Given the description of an element on the screen output the (x, y) to click on. 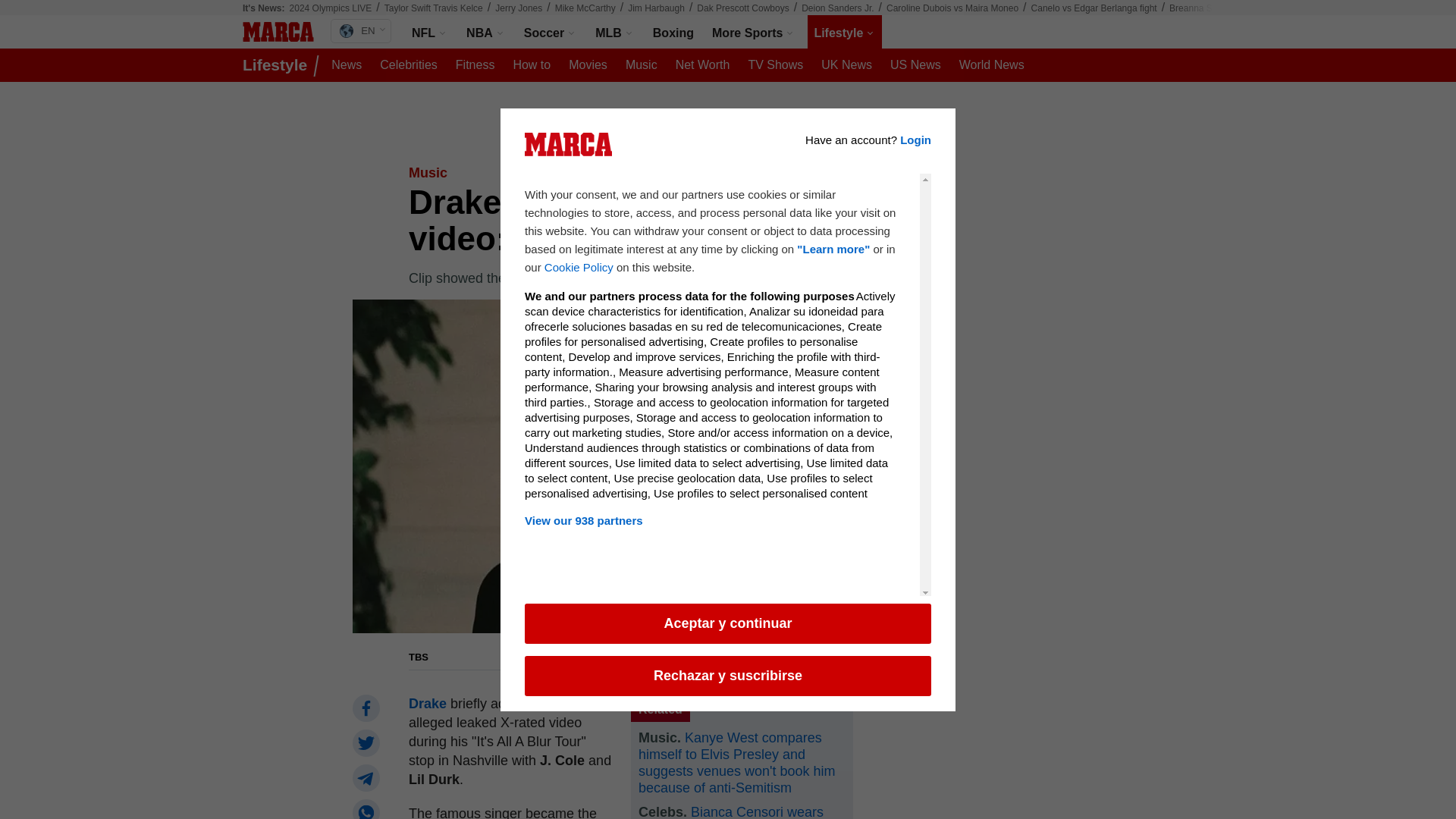
Fitness (474, 64)
MLB (614, 31)
Deion Sanders Jr. (837, 8)
"Learn more" (832, 259)
Net Worth (702, 64)
View our 938 partners (710, 531)
Cookie Policy (578, 277)
NFL (430, 31)
Login (915, 150)
Breanna Stewart Aja Wilson (1225, 8)
Jerry Jones (518, 8)
MLB (614, 31)
Rechazar y suscribirse (727, 675)
Canelo vs Edgar Berlanga fight (1093, 8)
NBA (486, 31)
